Given the description of an element on the screen output the (x, y) to click on. 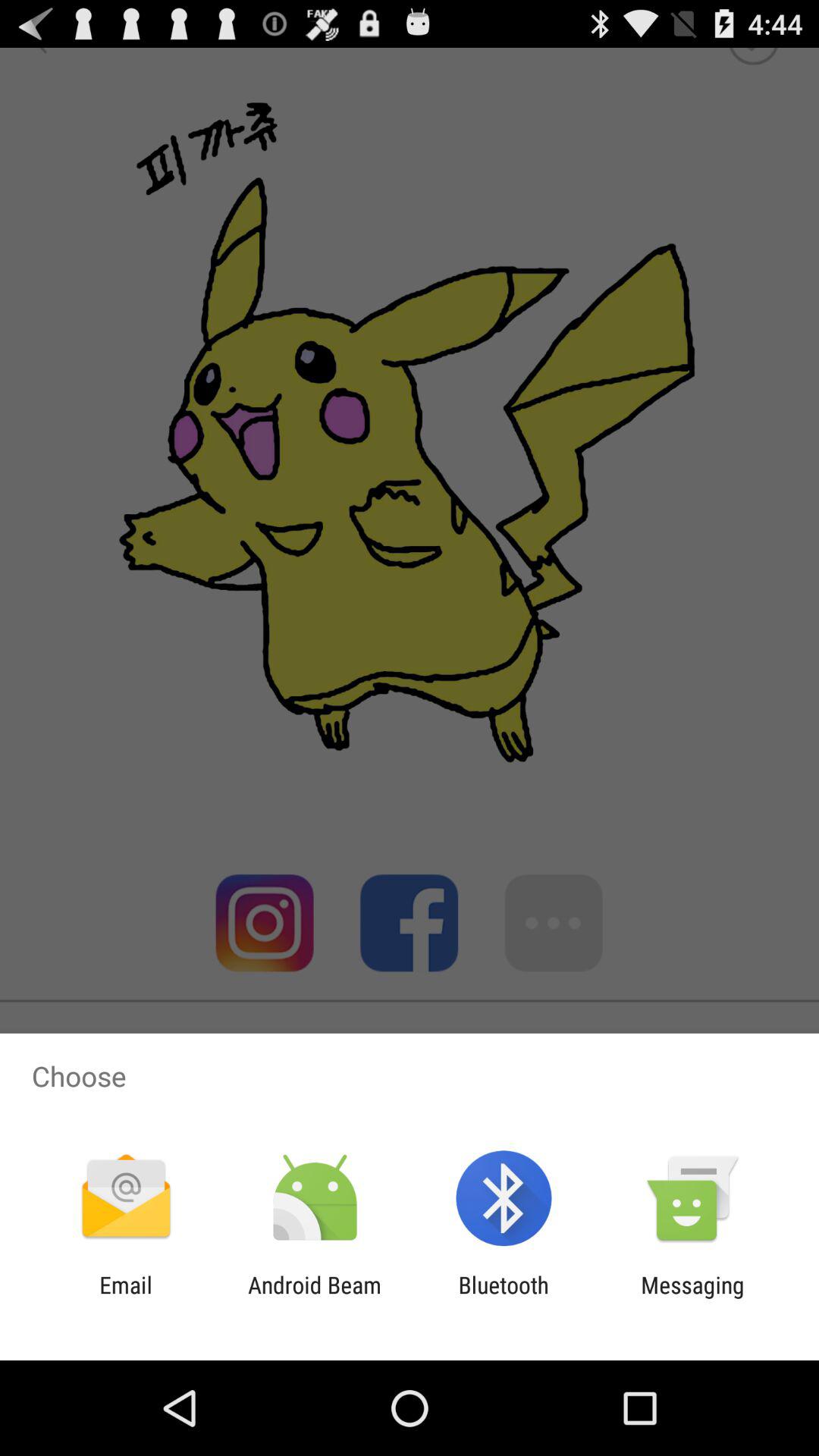
press android beam app (314, 1298)
